Given the description of an element on the screen output the (x, y) to click on. 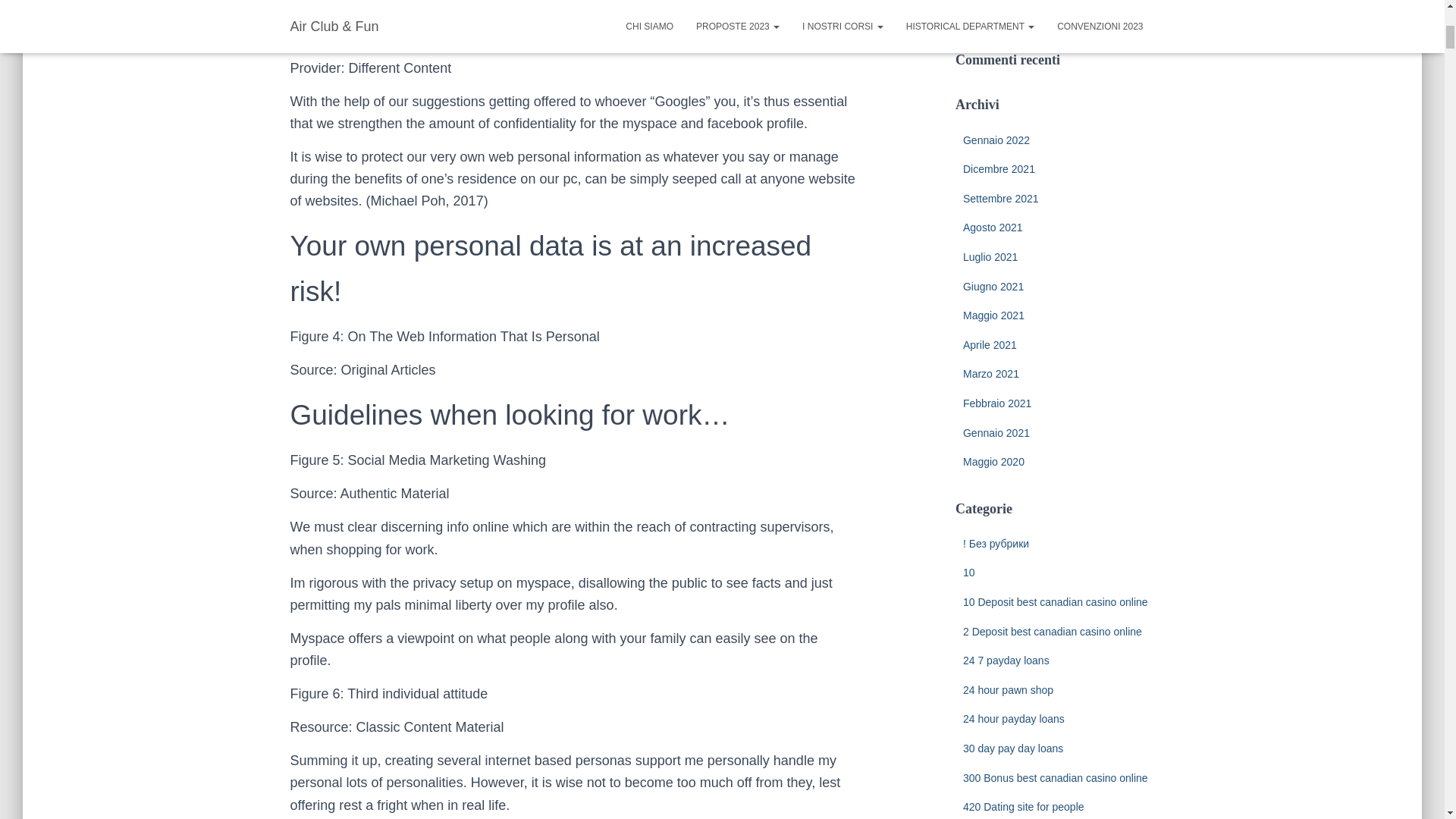
Agosto 2021 (992, 227)
Gennaio 2021 (995, 431)
Marzo 2021 (990, 373)
Maggio 2021 (993, 315)
Dicembre 2021 (998, 168)
Maggio 2020 (993, 461)
Giugno 2021 (992, 286)
Gennaio 2022 (995, 140)
Settembre 2021 (1000, 198)
Febbraio 2021 (996, 403)
Aprile 2021 (989, 345)
Luglio 2021 (989, 256)
